Given the description of an element on the screen output the (x, y) to click on. 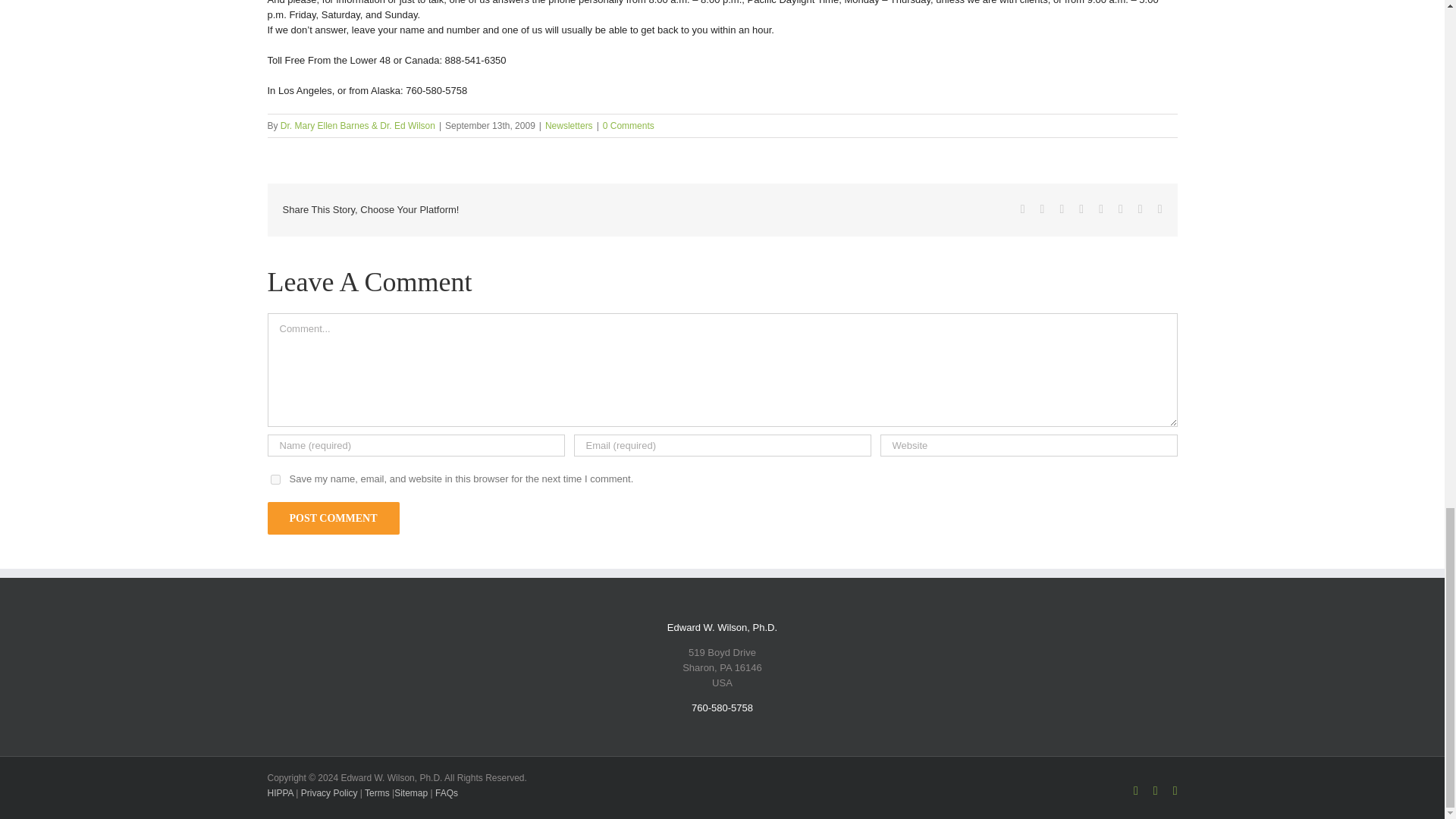
yes (274, 479)
Post Comment (332, 518)
